Given the description of an element on the screen output the (x, y) to click on. 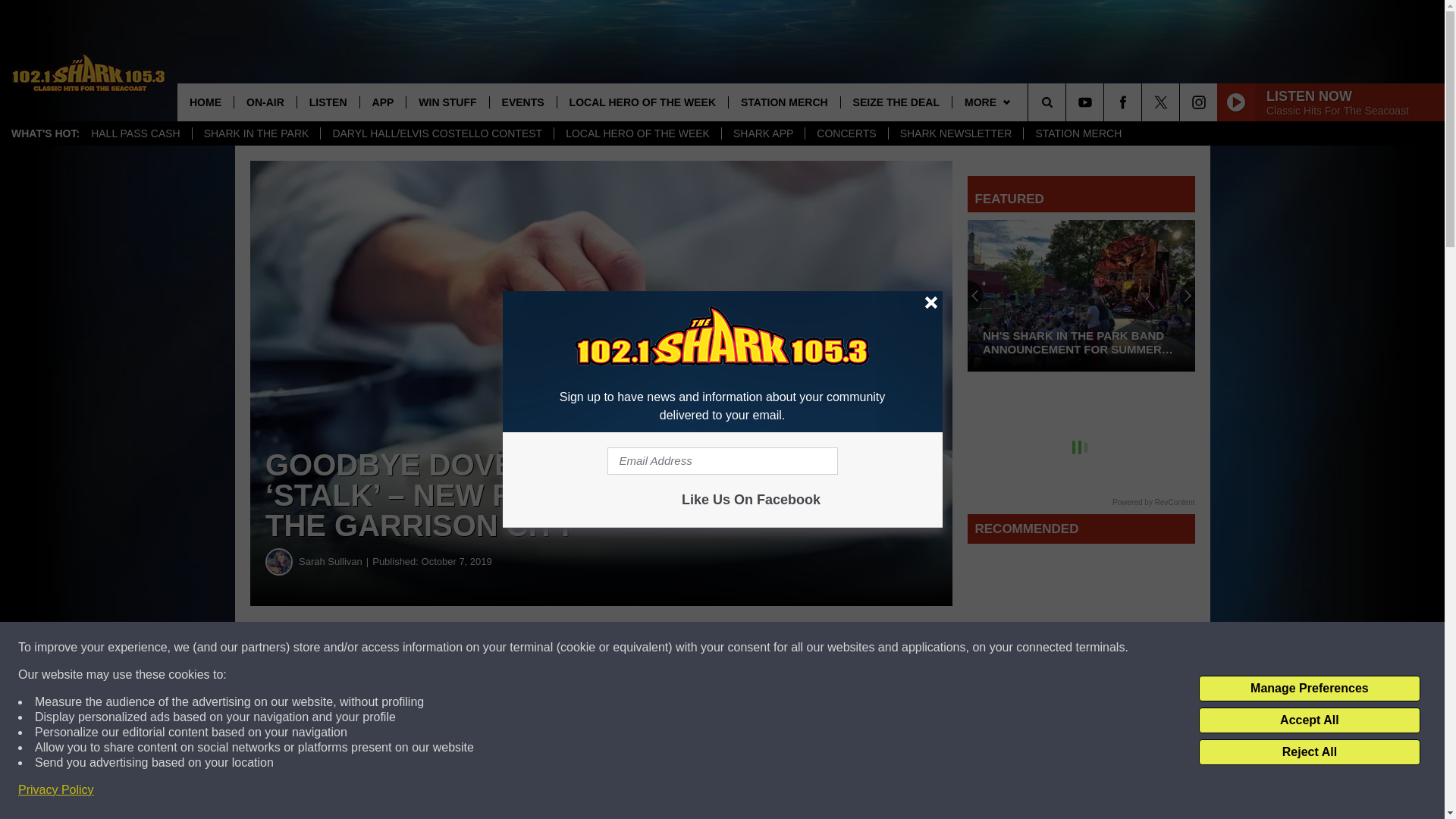
Share on Facebook (460, 647)
WIN STUFF (446, 102)
HOME (204, 102)
HALL PASS CASH (136, 133)
LISTEN (328, 102)
Share on Twitter (741, 647)
LOCAL HERO OF THE WEEK (636, 133)
SEARCH (1068, 102)
CONCERTS (845, 133)
Privacy Policy (55, 789)
Email Address (722, 461)
SEARCH (1068, 102)
SHARK IN THE PARK (256, 133)
SHARK NEWSLETTER (955, 133)
EVENTS (522, 102)
